Given the description of an element on the screen output the (x, y) to click on. 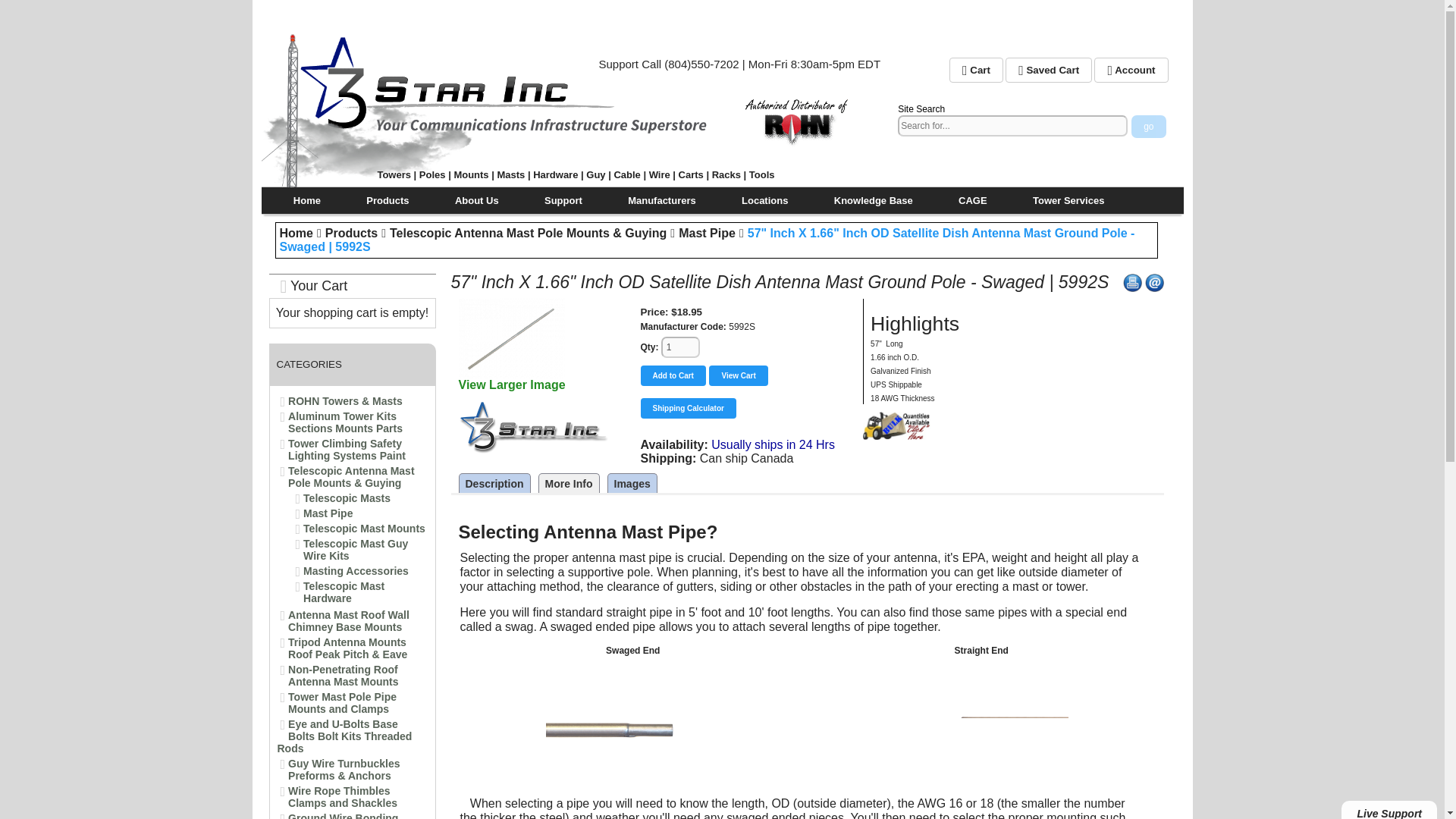
Products (350, 232)
Telescopic Mast Mounts (363, 528)
Home (306, 200)
Telescopic Mast Guy Wire Kits (354, 549)
Mast Pipe (327, 512)
Antenna Mast Roof Wall Chimney Base Mounts (348, 621)
Saved Cart (1049, 69)
Cart (976, 69)
Knowledge Base (873, 200)
Aluminum Tower Kits Sections Mounts Parts (345, 422)
